Given the description of an element on the screen output the (x, y) to click on. 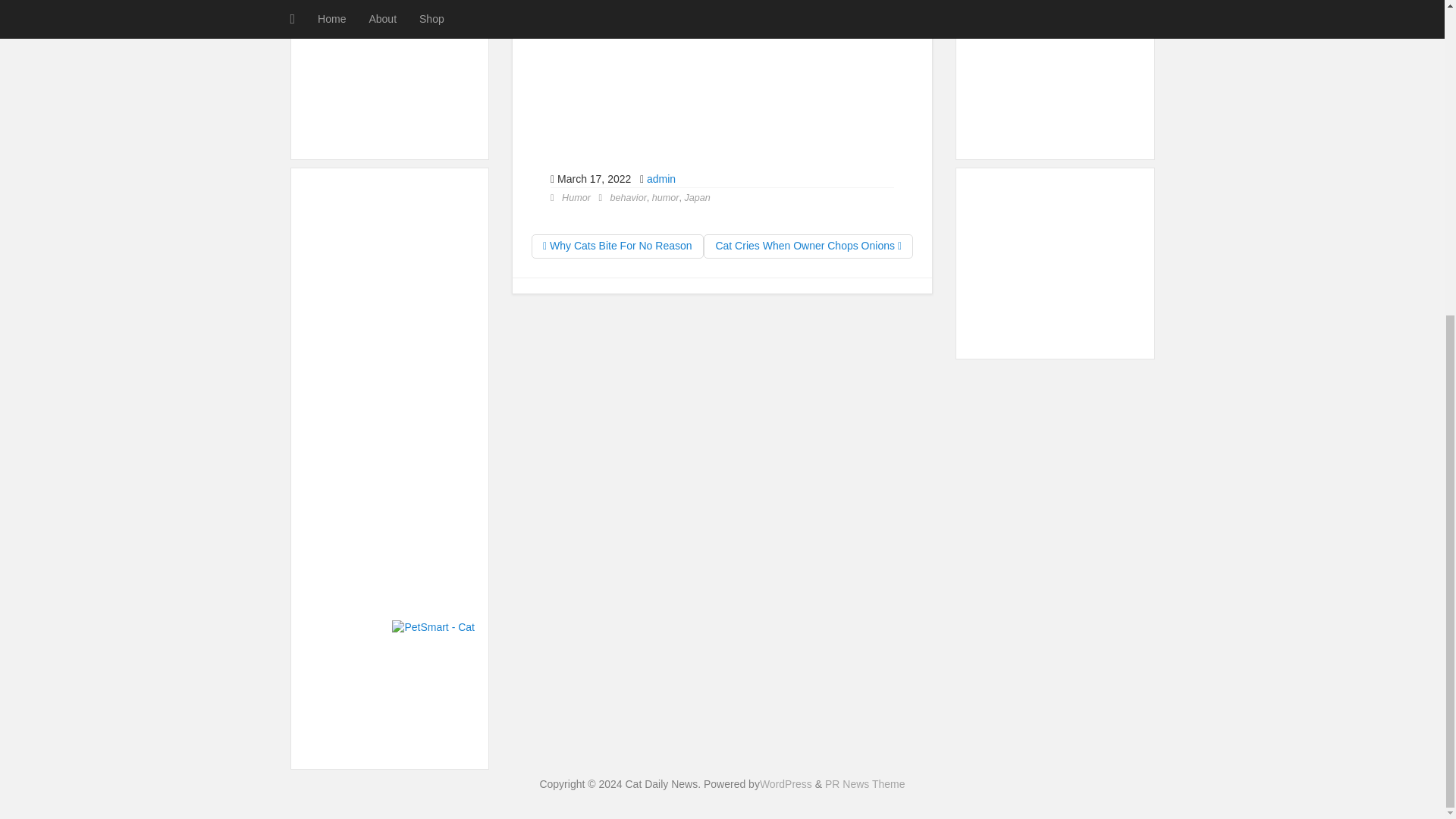
Cat Cries When Owner Chops Onions (807, 246)
Humor (576, 197)
WordPress (786, 784)
WordPress (786, 784)
Why Cats Bite For No Reason (617, 246)
admin (660, 178)
behavior (628, 197)
humor (665, 197)
PR News Theme (865, 784)
PR News Theme (865, 784)
Japan (697, 197)
Posts by admin (660, 178)
